Given the description of an element on the screen output the (x, y) to click on. 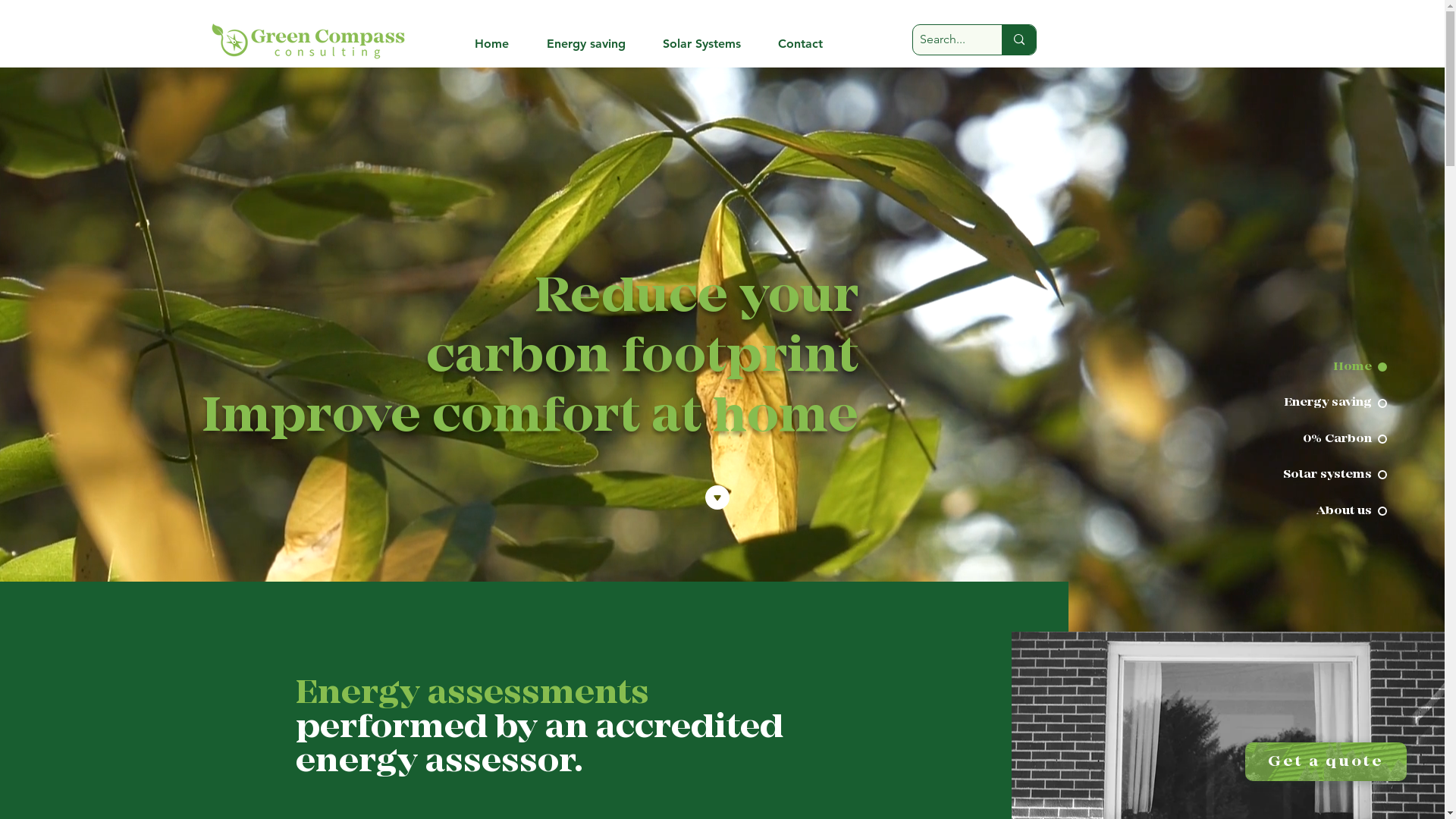
Solar Systems Element type: text (708, 43)
Energy saving Element type: text (593, 43)
0% Carbon Element type: text (1330, 438)
Home Element type: text (1330, 366)
Energy saving Element type: text (1330, 402)
Contact Element type: text (807, 43)
Home Element type: text (499, 43)
About us Element type: text (1330, 510)
Solar systems Element type: text (1330, 474)
Get a quote Element type: text (1325, 761)
